Given the description of an element on the screen output the (x, y) to click on. 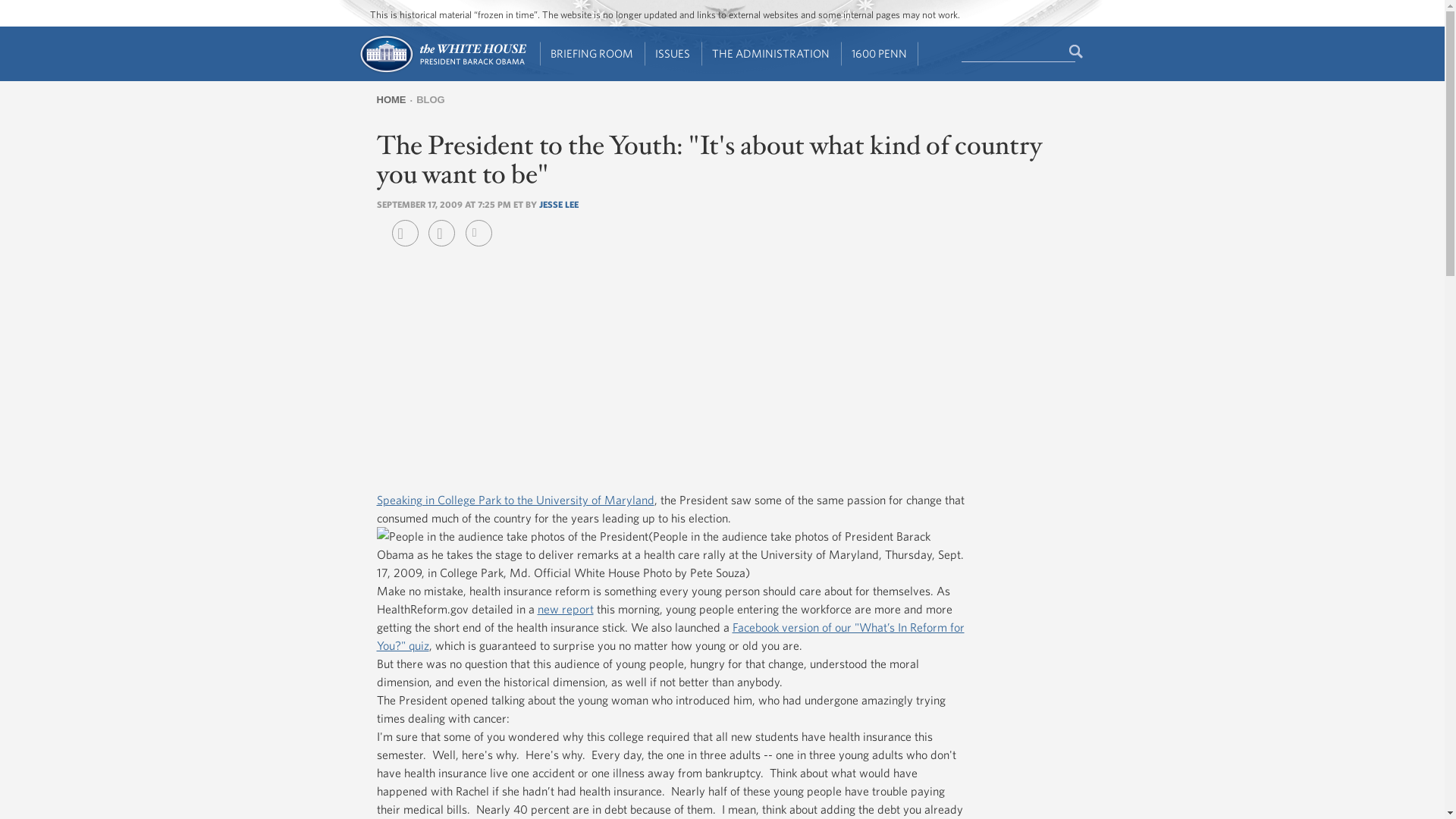
Search (1076, 51)
ISSUES (673, 53)
Home (441, 70)
BRIEFING ROOM (592, 53)
Enter the terms you wish to search for. (1017, 52)
